Given the description of an element on the screen output the (x, y) to click on. 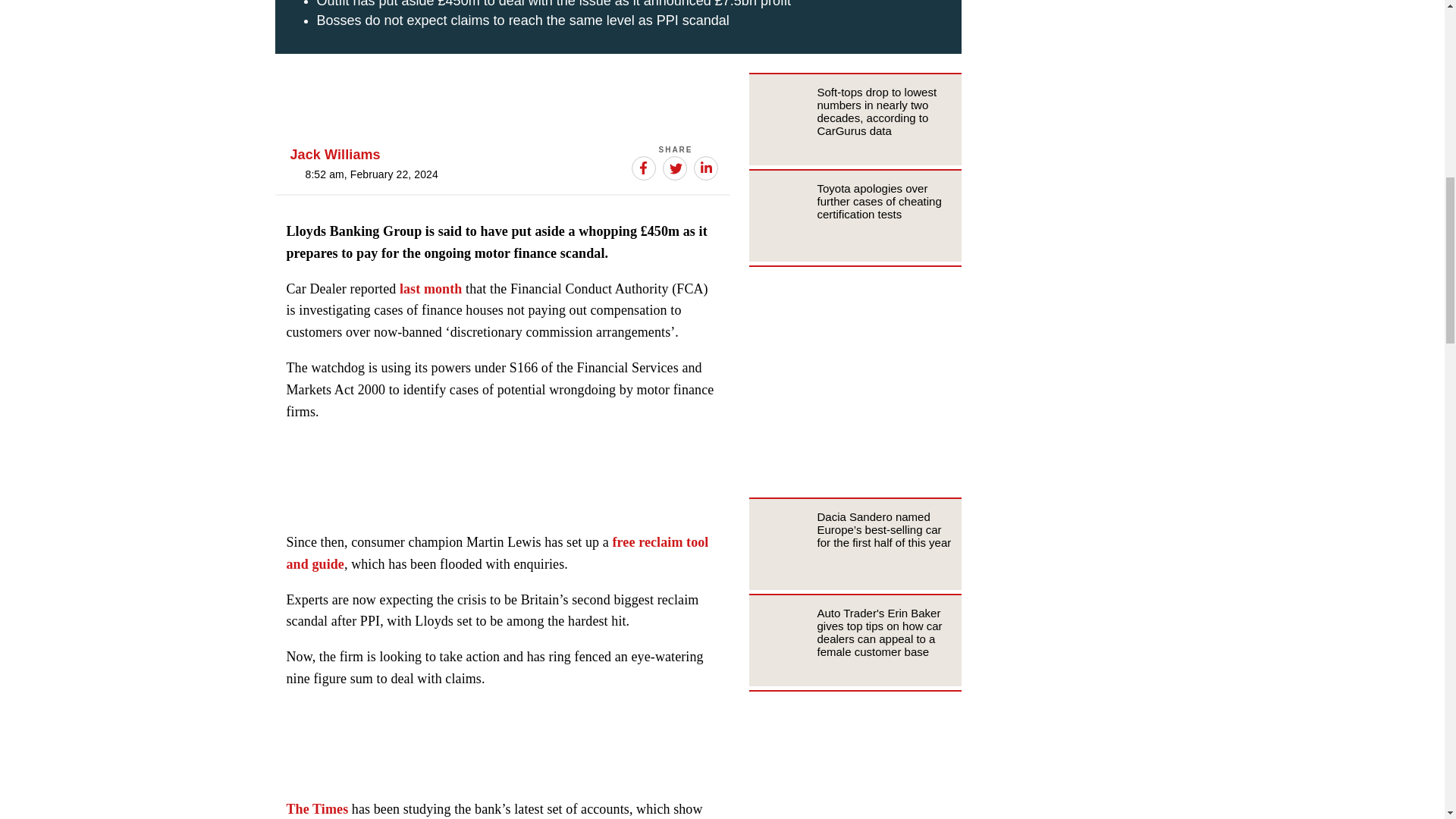
last month (430, 288)
free reclaim tool and guide (497, 552)
Posts by Jack Williams (334, 154)
The Times (317, 808)
Jack Williams (334, 154)
